Given the description of an element on the screen output the (x, y) to click on. 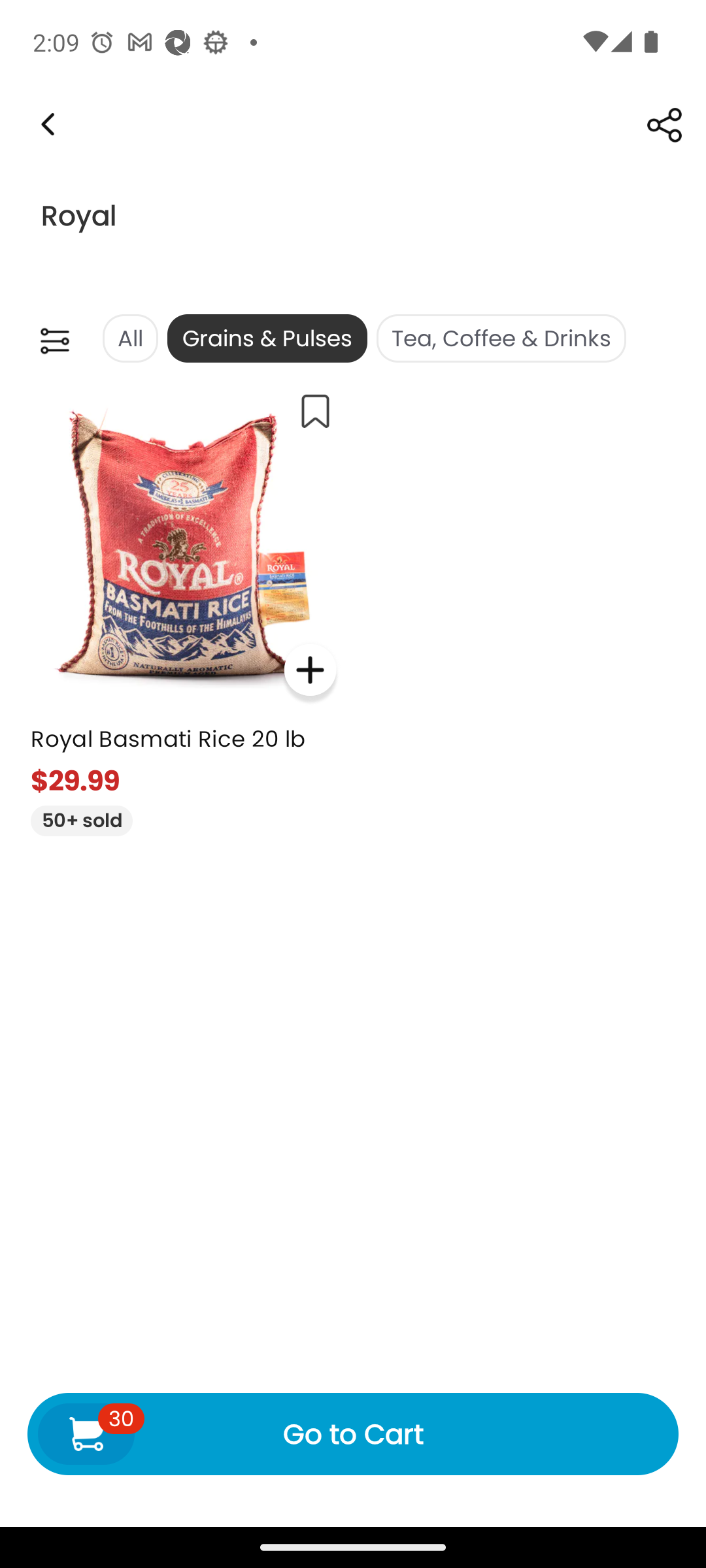
All (130, 338)
Grains & Pulses (267, 338)
Tea, Coffee & Drinks (501, 338)
Royal Basmati Rice 20 lb $29.99 50+ sold (182, 605)
30 Go to Cart (352, 1433)
